Given the description of an element on the screen output the (x, y) to click on. 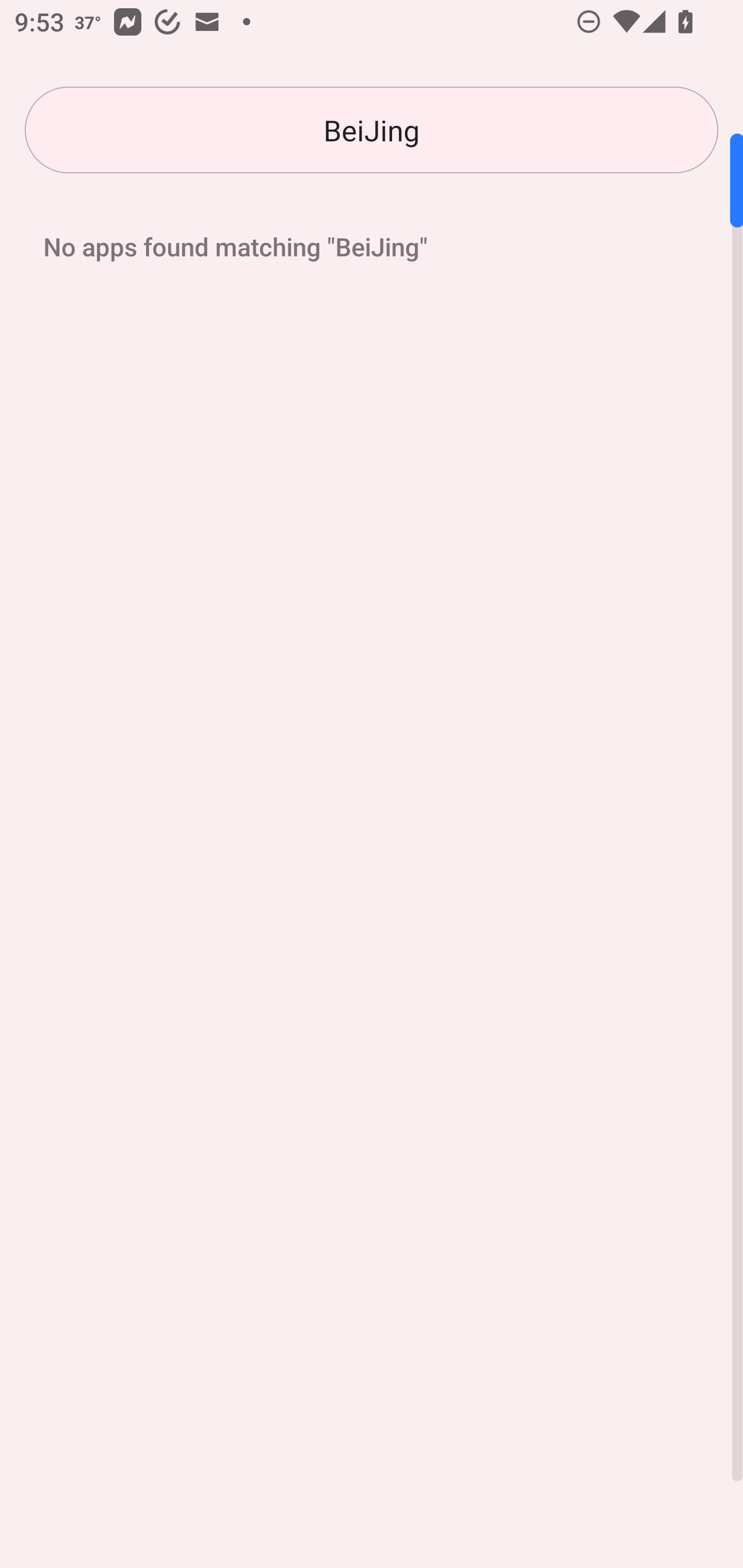
BeiJing (371, 130)
